Given the description of an element on the screen output the (x, y) to click on. 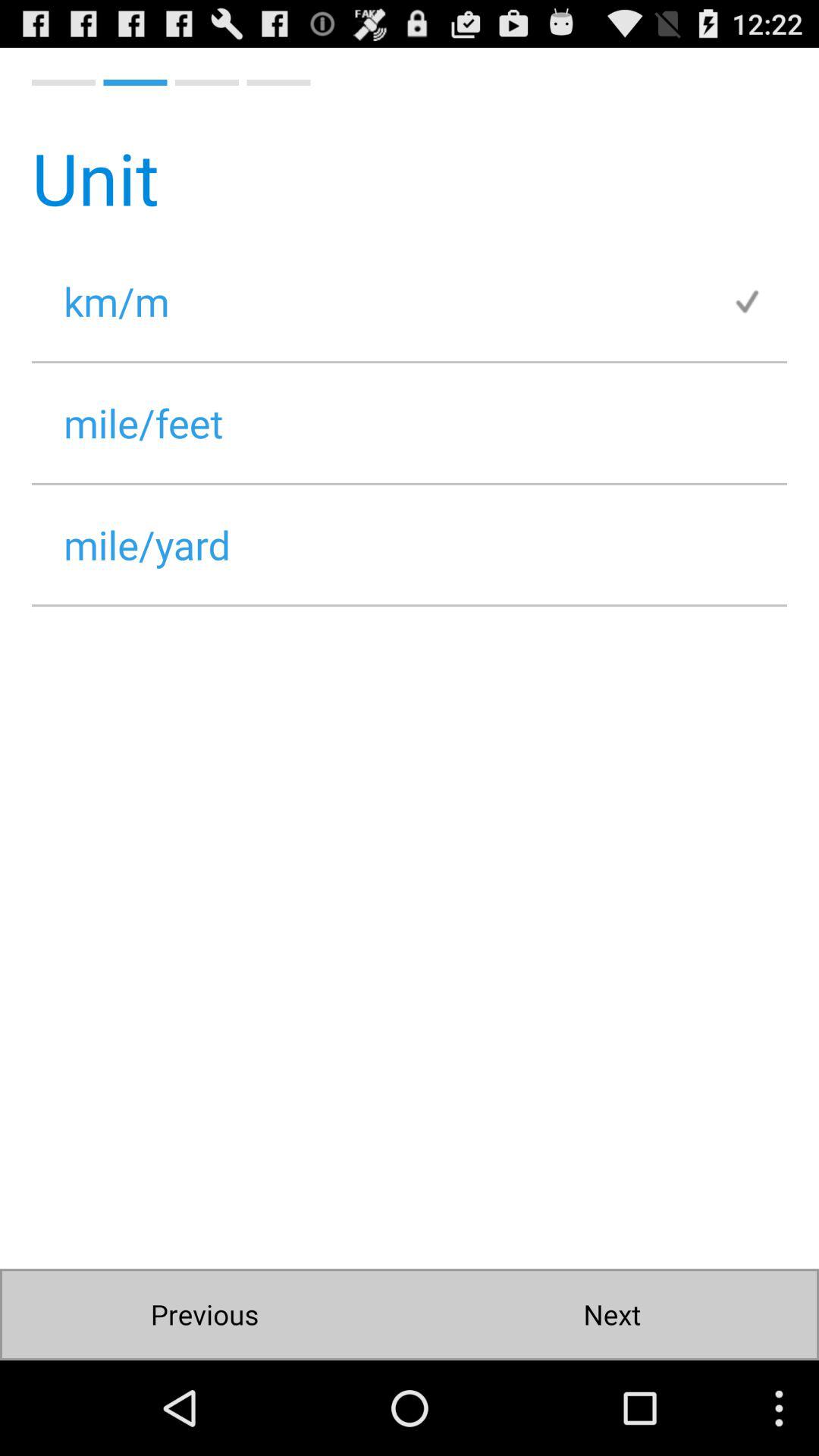
choose icon below unit item (381, 300)
